Given the description of an element on the screen output the (x, y) to click on. 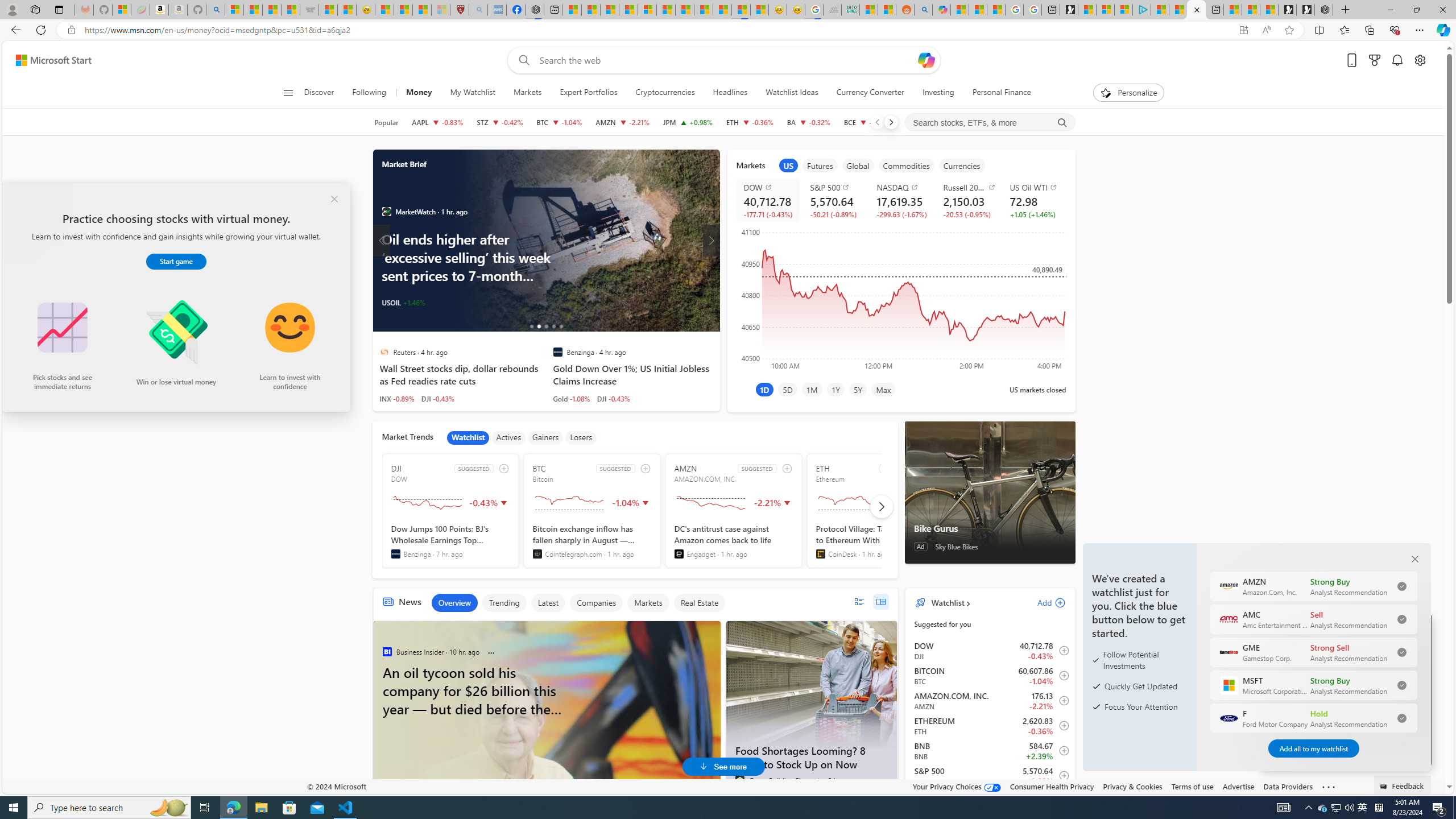
NASDAQ COMP decrease 17,619.35 -299.63 -1.67% (901, 200)
Russell 2000 (969, 187)
close popup (333, 199)
Popular (386, 121)
Trending (504, 602)
Previous (876, 122)
Cryptocurrencies (664, 92)
